Given the description of an element on the screen output the (x, y) to click on. 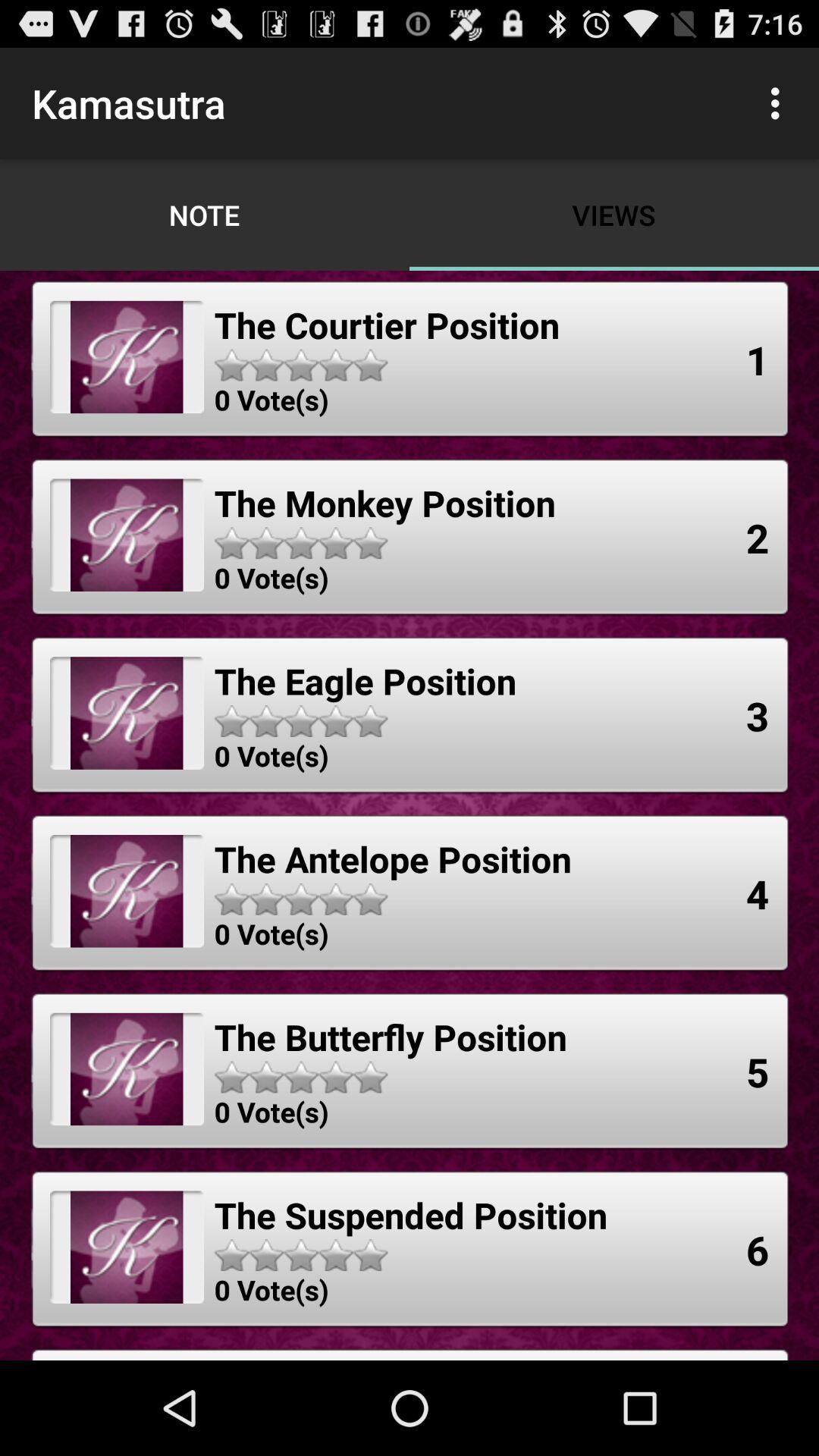
swipe until the the antelope position item (392, 858)
